Given the description of an element on the screen output the (x, y) to click on. 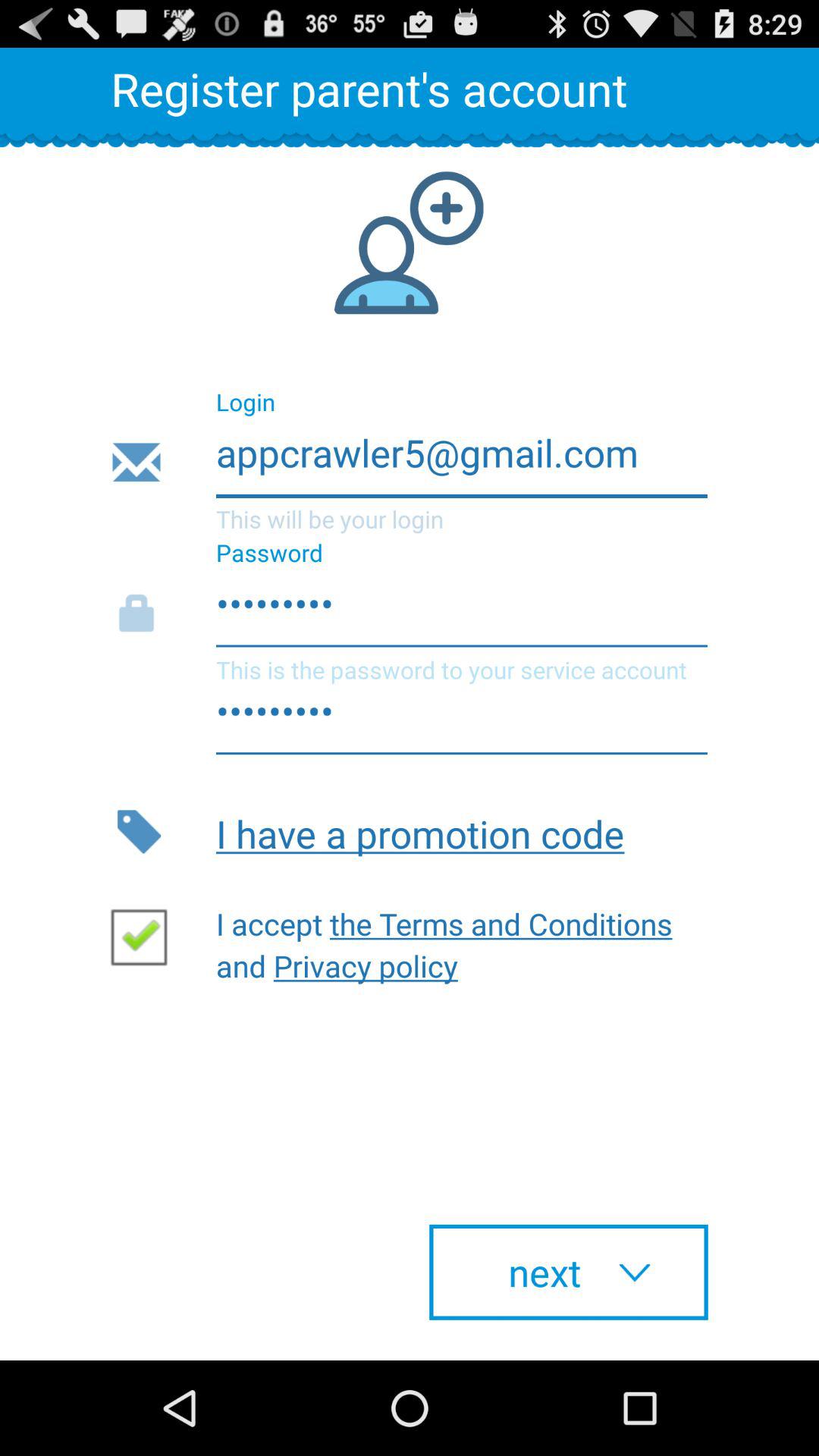
select 2 lines text above next button on the page (451, 940)
select the check box which has tick mark (145, 935)
select the text i have a promotion code which is after tag icon (461, 832)
select the second password text box below text password (408, 718)
select the text box which says password (408, 613)
